Given the description of an element on the screen output the (x, y) to click on. 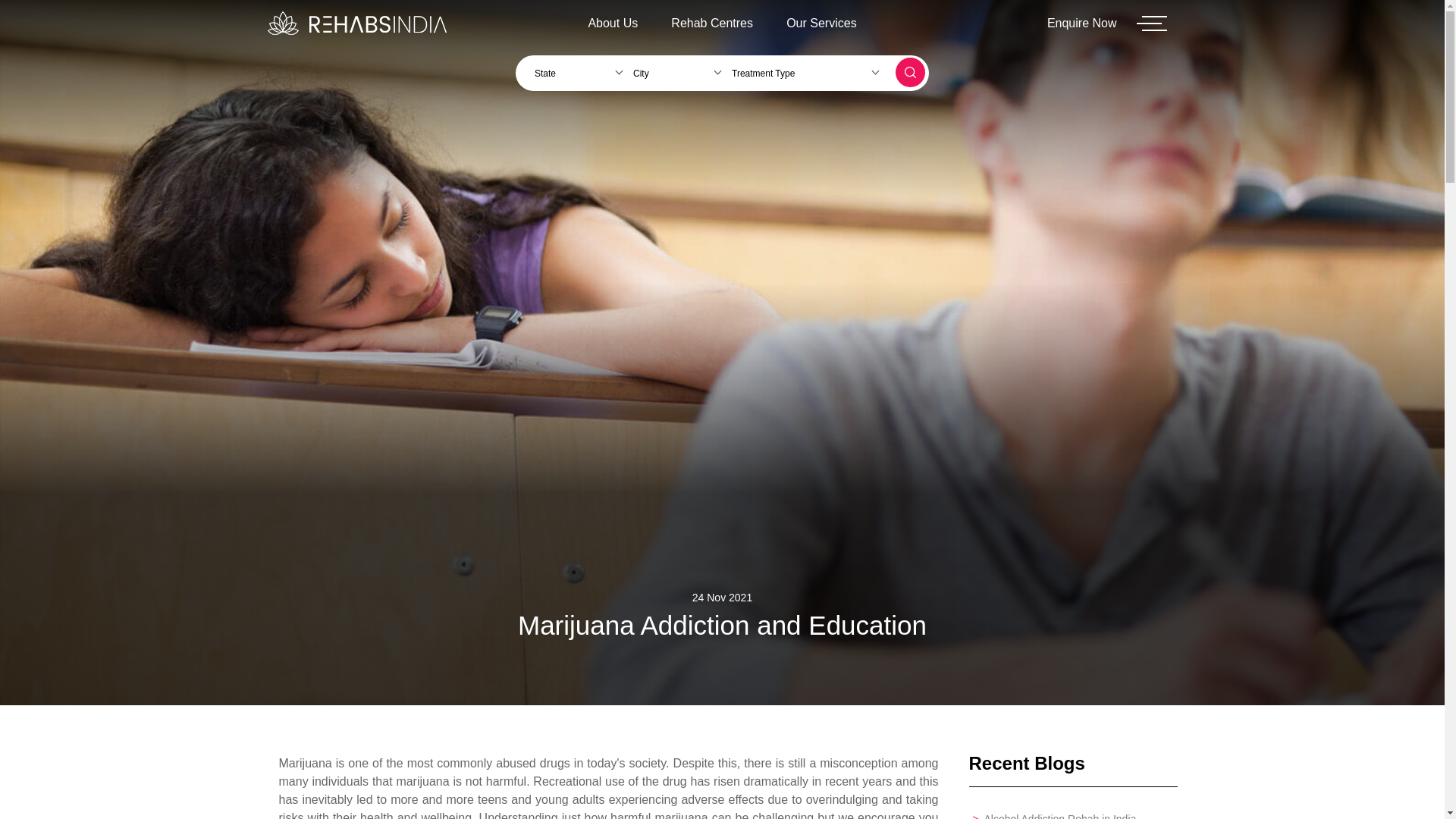
Our Services (820, 22)
About Us (612, 22)
Rehab Centres (712, 22)
